Given the description of an element on the screen output the (x, y) to click on. 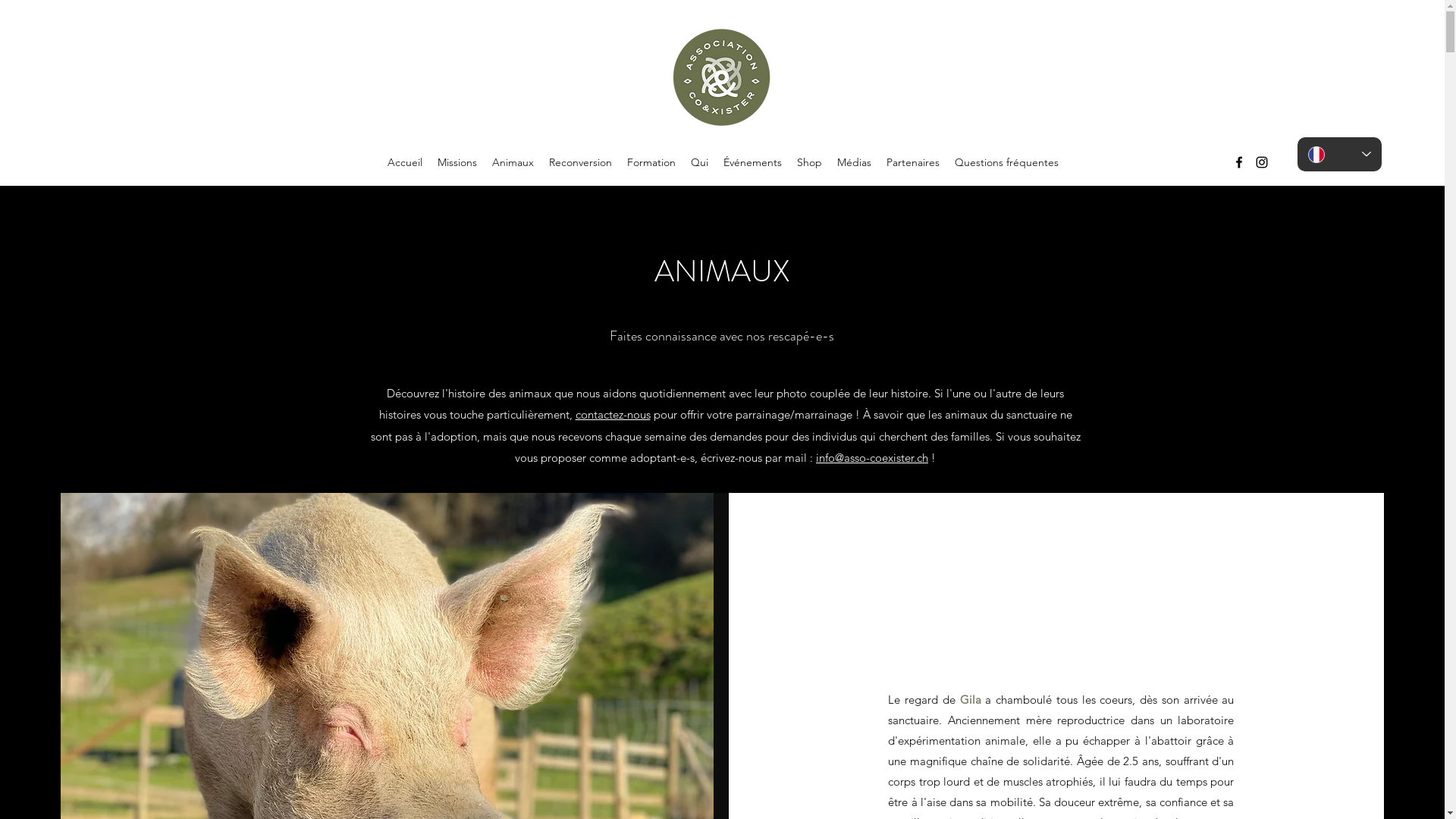
Shop Element type: text (808, 161)
info@asso-coexister.ch Element type: text (871, 457)
Animaux Element type: text (511, 161)
Formation Element type: text (650, 161)
contactez-nous Element type: text (611, 414)
Partenaires Element type: text (912, 161)
Missions Element type: text (456, 161)
Accueil Element type: text (404, 161)
Reconversion Element type: text (580, 161)
Qui Element type: text (698, 161)
